Given the description of an element on the screen output the (x, y) to click on. 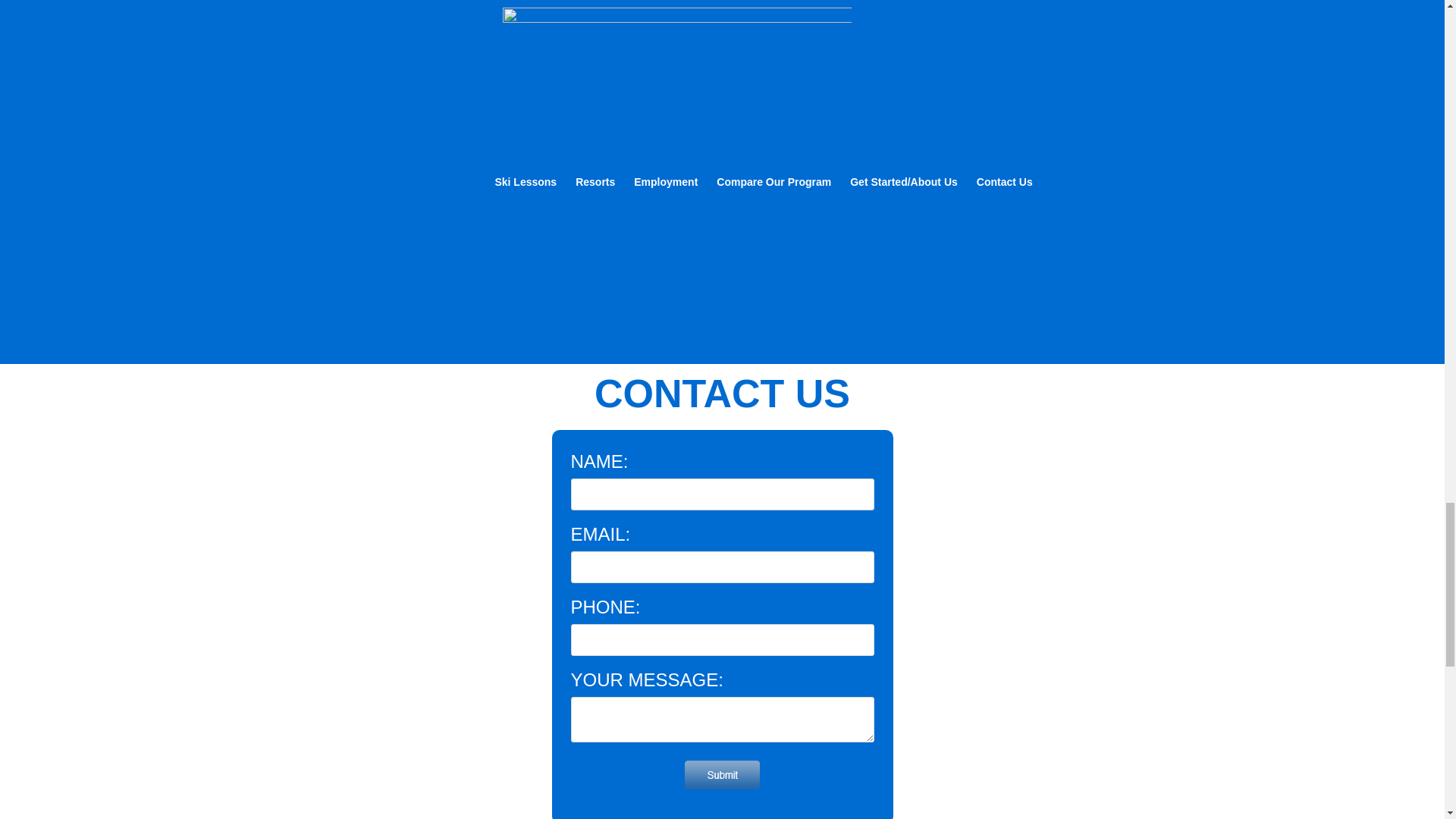
Snow Summit Ski Lessons (486, 39)
